Given the description of an element on the screen output the (x, y) to click on. 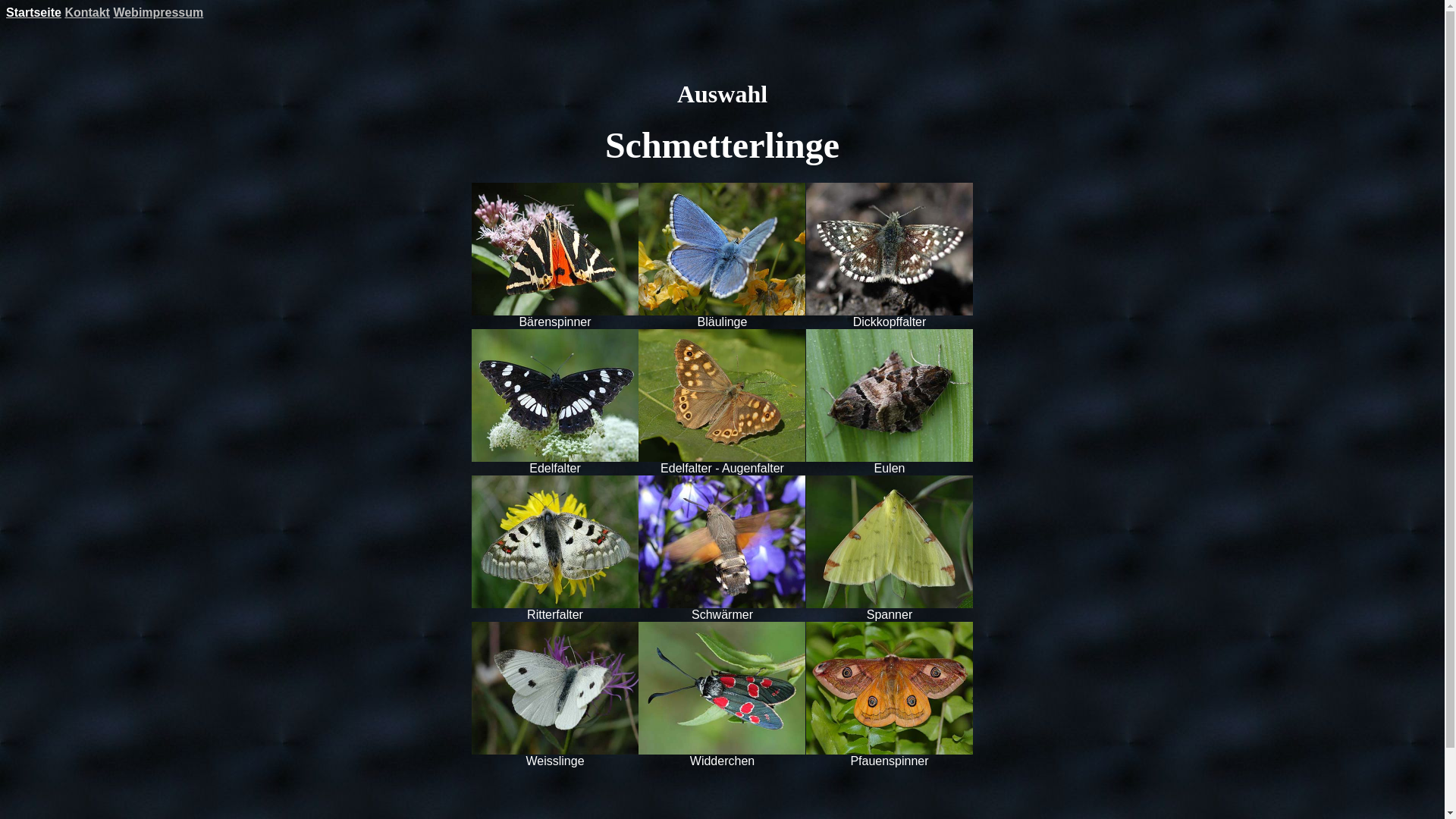
Webimpressum Element type: text (157, 12)
Kontakt Element type: text (86, 12)
Startseite Element type: text (33, 12)
